Given the description of an element on the screen output the (x, y) to click on. 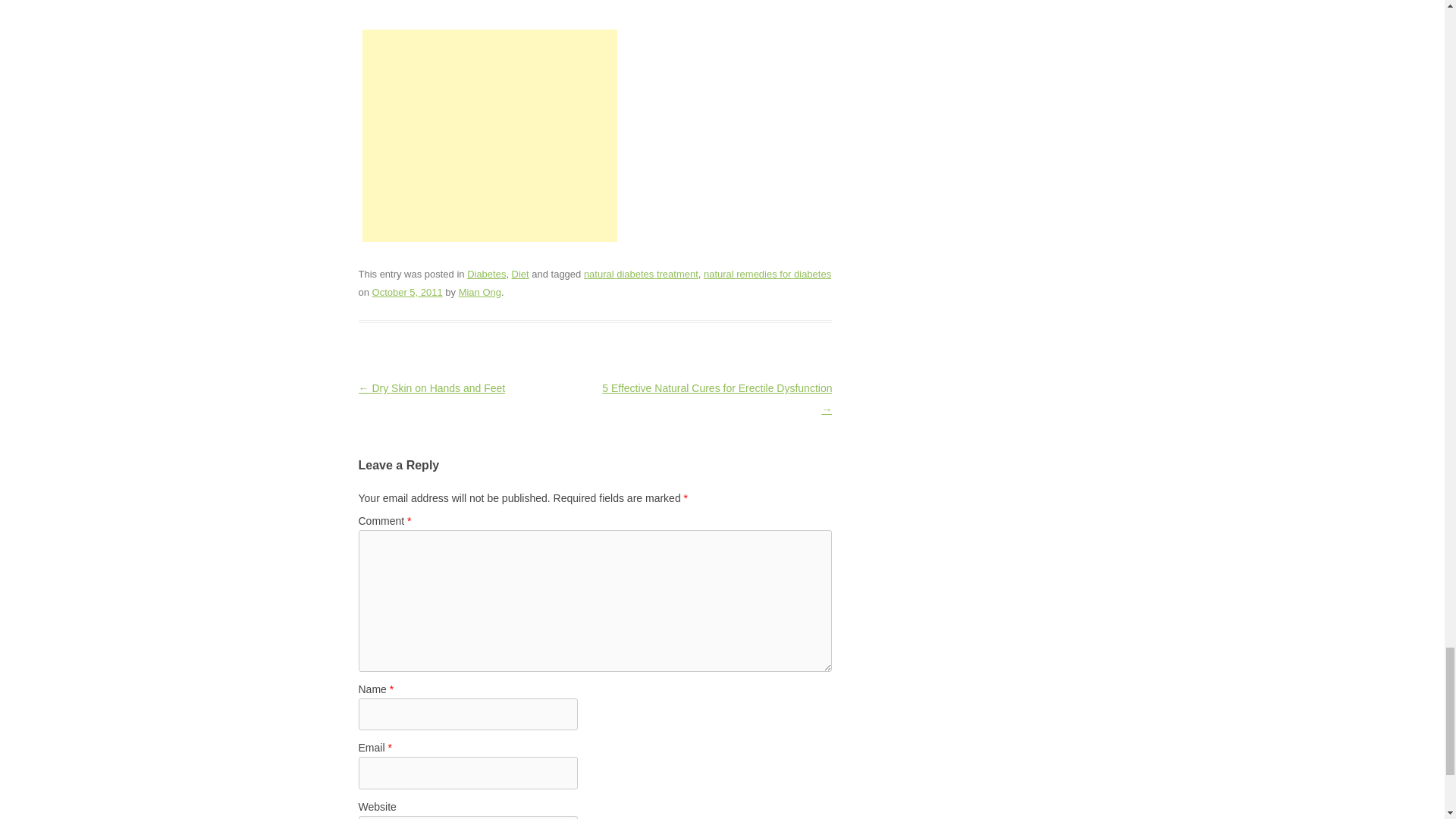
1:50 pm (407, 292)
natural diabetes treatment (640, 274)
Diabetes (486, 274)
Diet (520, 274)
View all posts by Mian Ong (479, 292)
October 5, 2011 (407, 292)
natural remedies for diabetes (767, 274)
Mian Ong (479, 292)
